Given the description of an element on the screen output the (x, y) to click on. 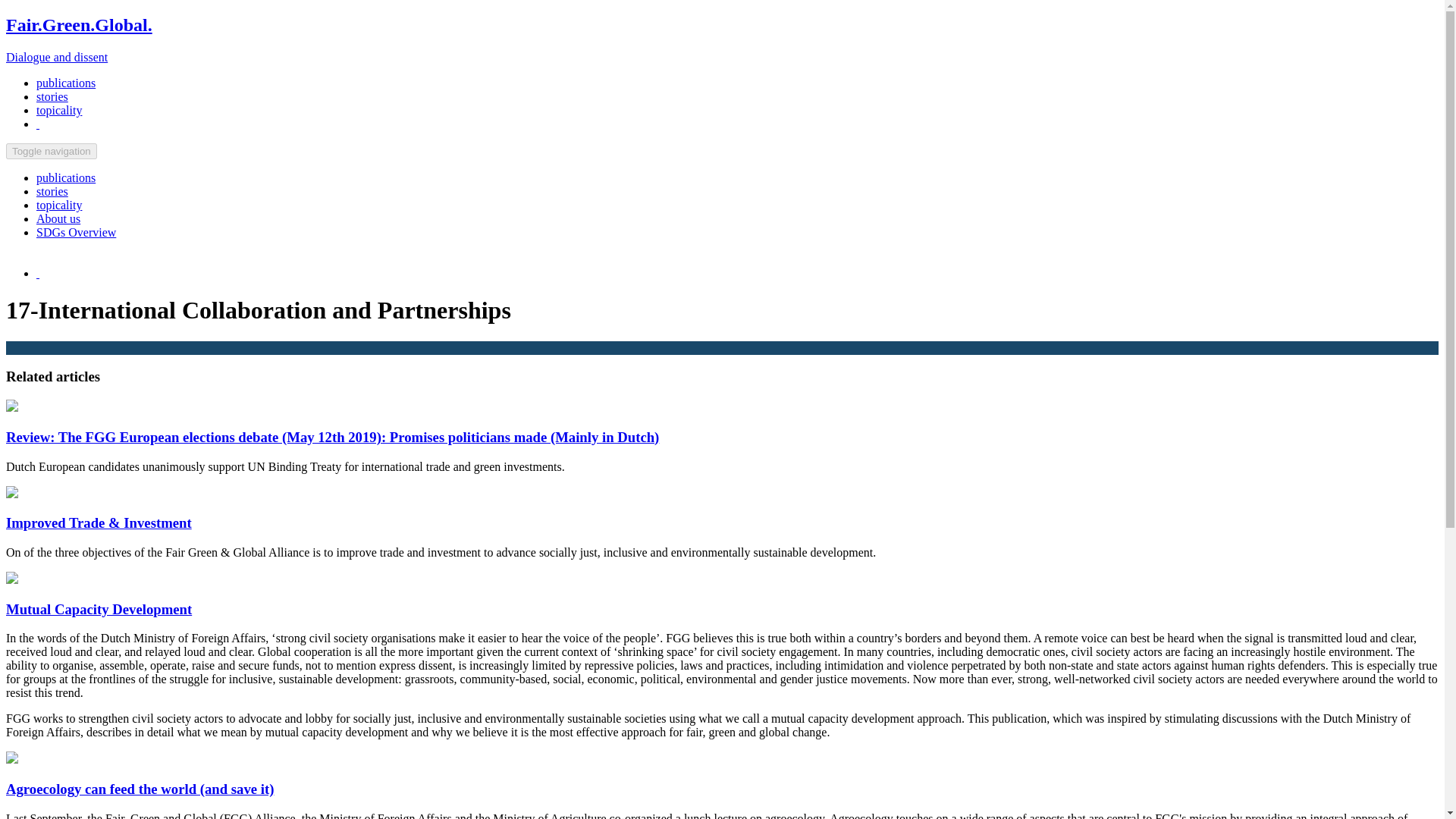
publications (66, 82)
About us (58, 218)
publications (66, 177)
SDGs Overview (76, 232)
Toggle navigation (51, 150)
stories (52, 96)
topicality (58, 205)
topicality (58, 110)
stories (52, 191)
